Given the description of an element on the screen output the (x, y) to click on. 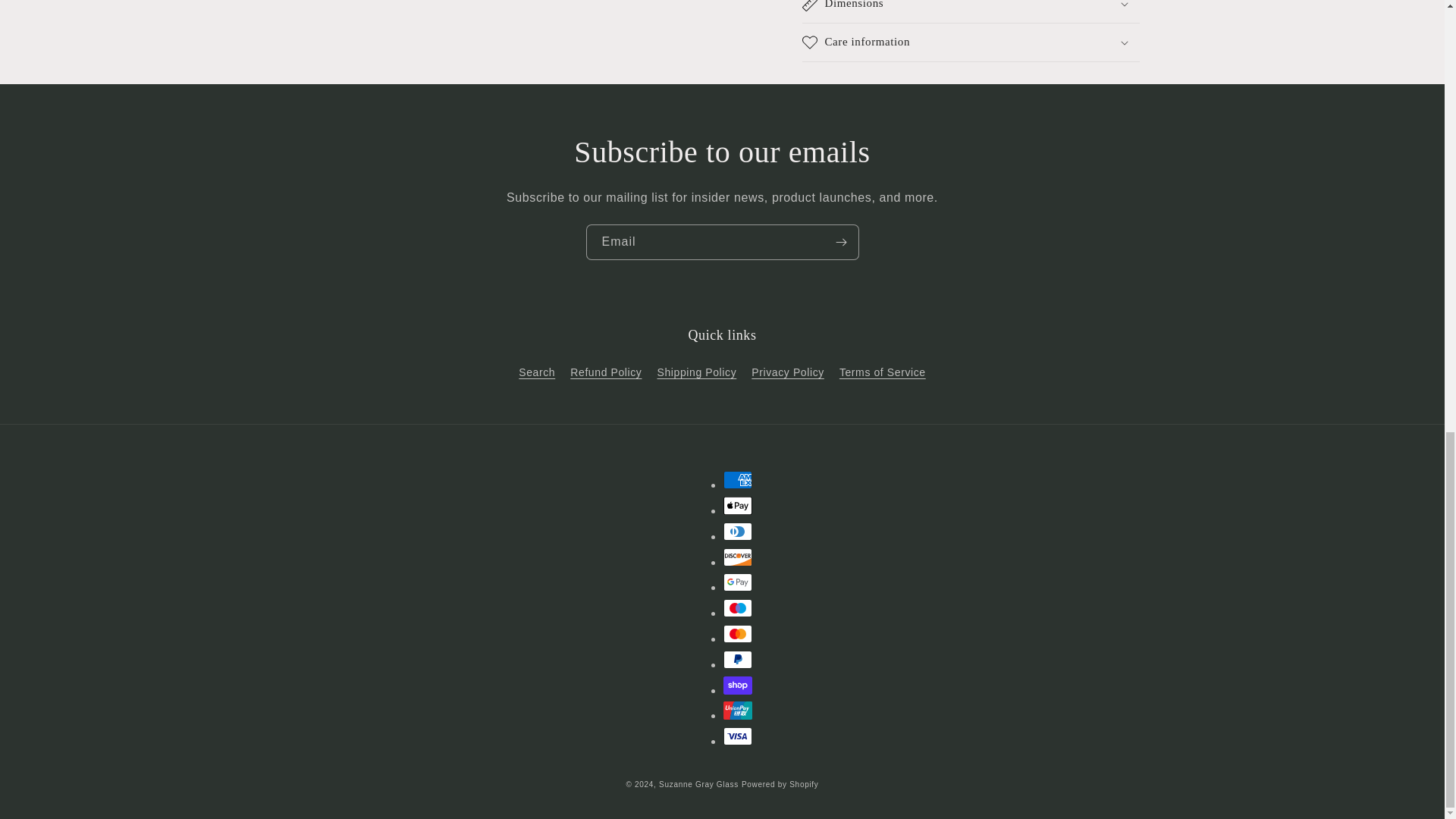
Discover (737, 556)
Diners Club (737, 531)
Refund Policy (606, 372)
Mastercard (737, 633)
Google Pay (737, 582)
Search (536, 374)
Maestro (737, 607)
Apple Pay (737, 505)
PayPal (737, 659)
American Express (737, 479)
